Given the description of an element on the screen output the (x, y) to click on. 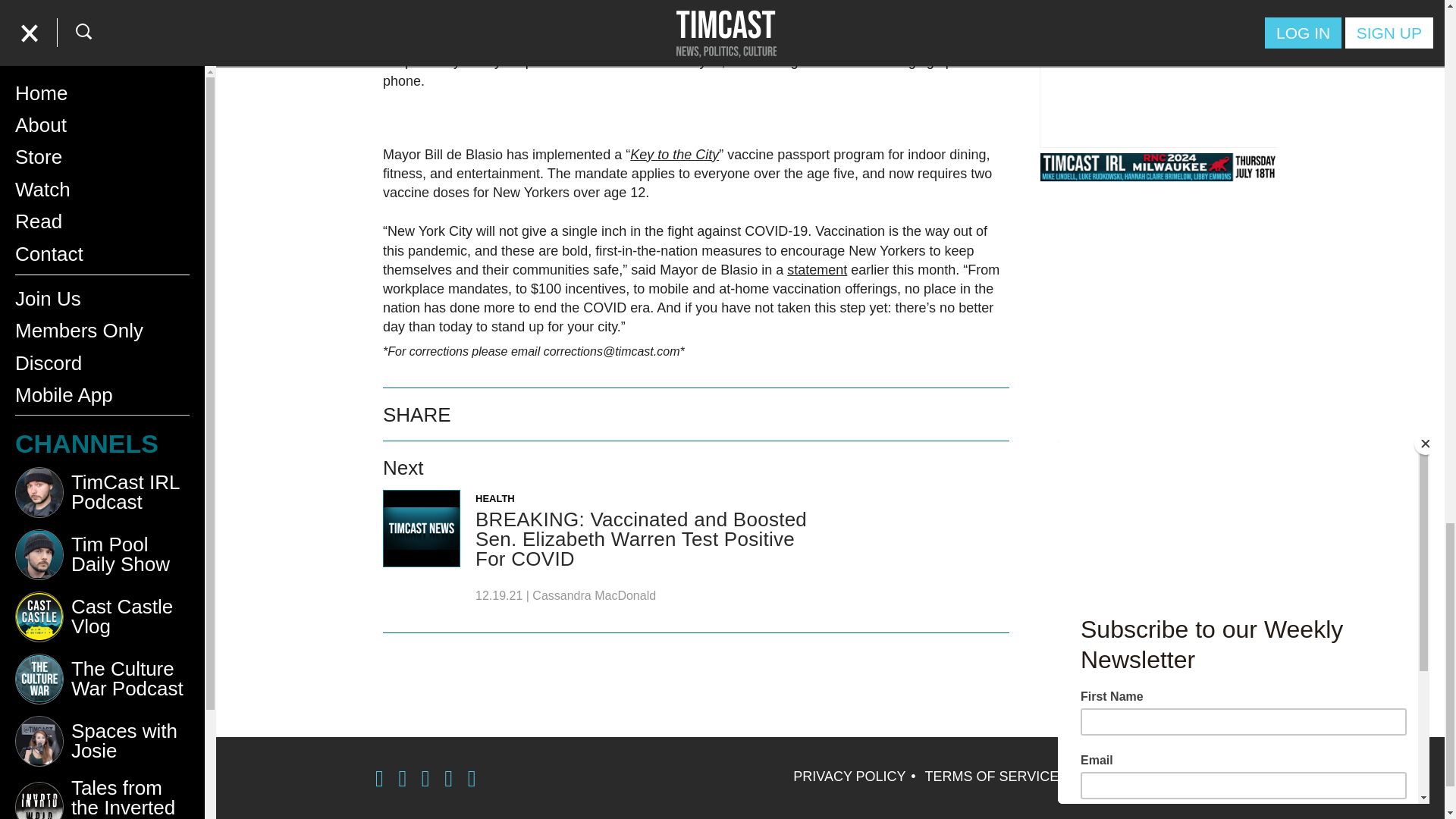
Key to the City (674, 154)
statement (817, 269)
HEALTH (495, 498)
